Given the description of an element on the screen output the (x, y) to click on. 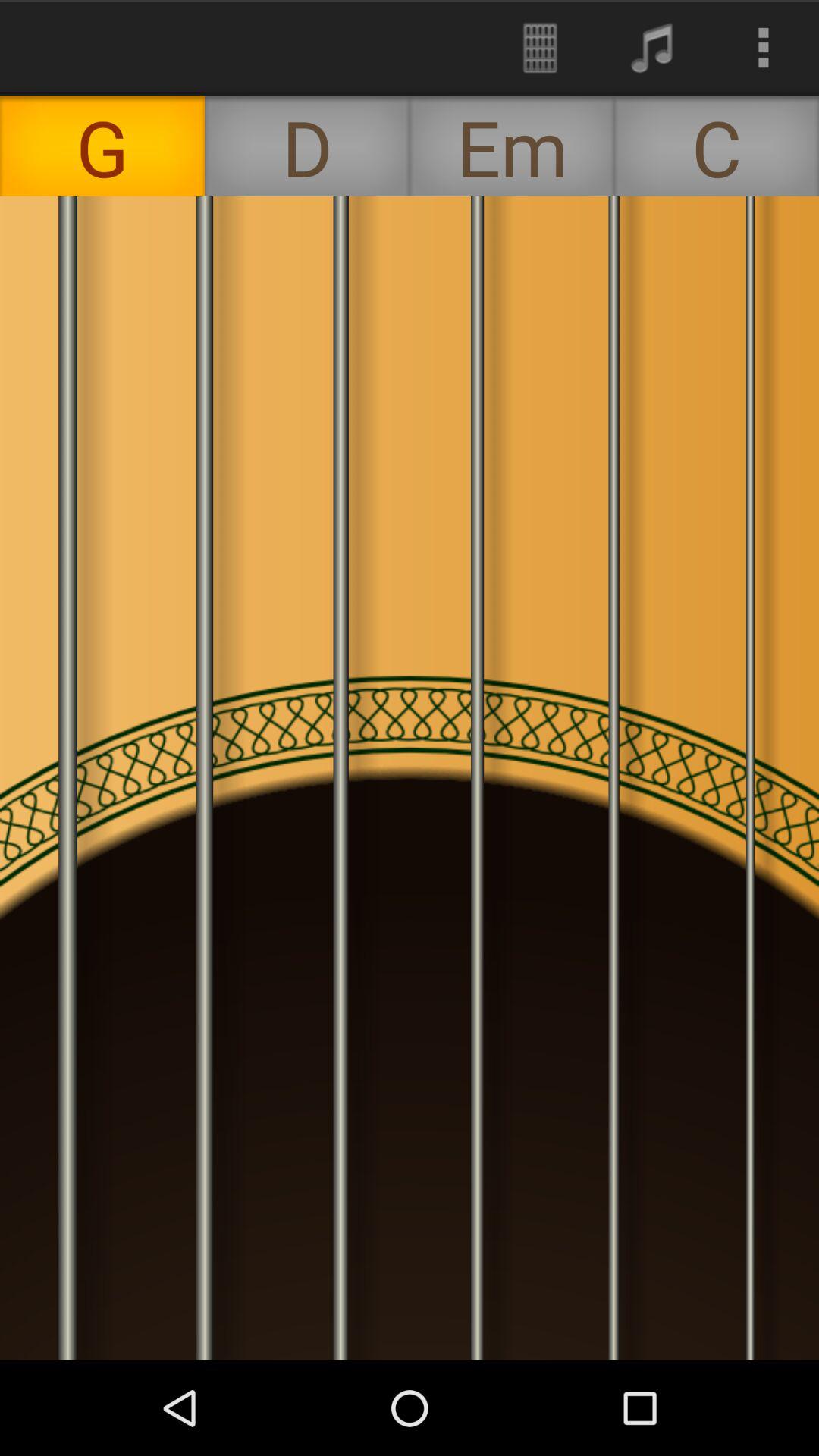
swipe to the em (511, 145)
